Given the description of an element on the screen output the (x, y) to click on. 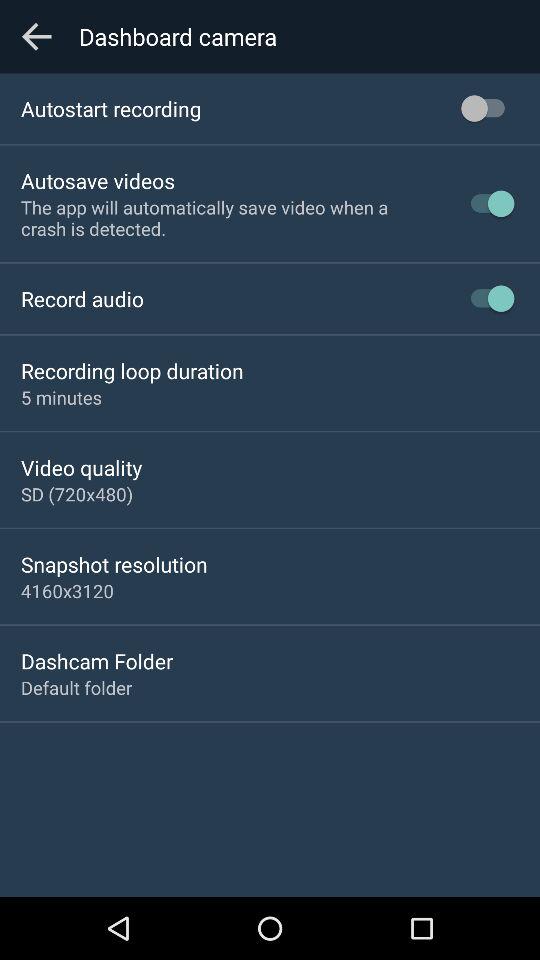
select item below dashcam folder item (76, 687)
